Given the description of an element on the screen output the (x, y) to click on. 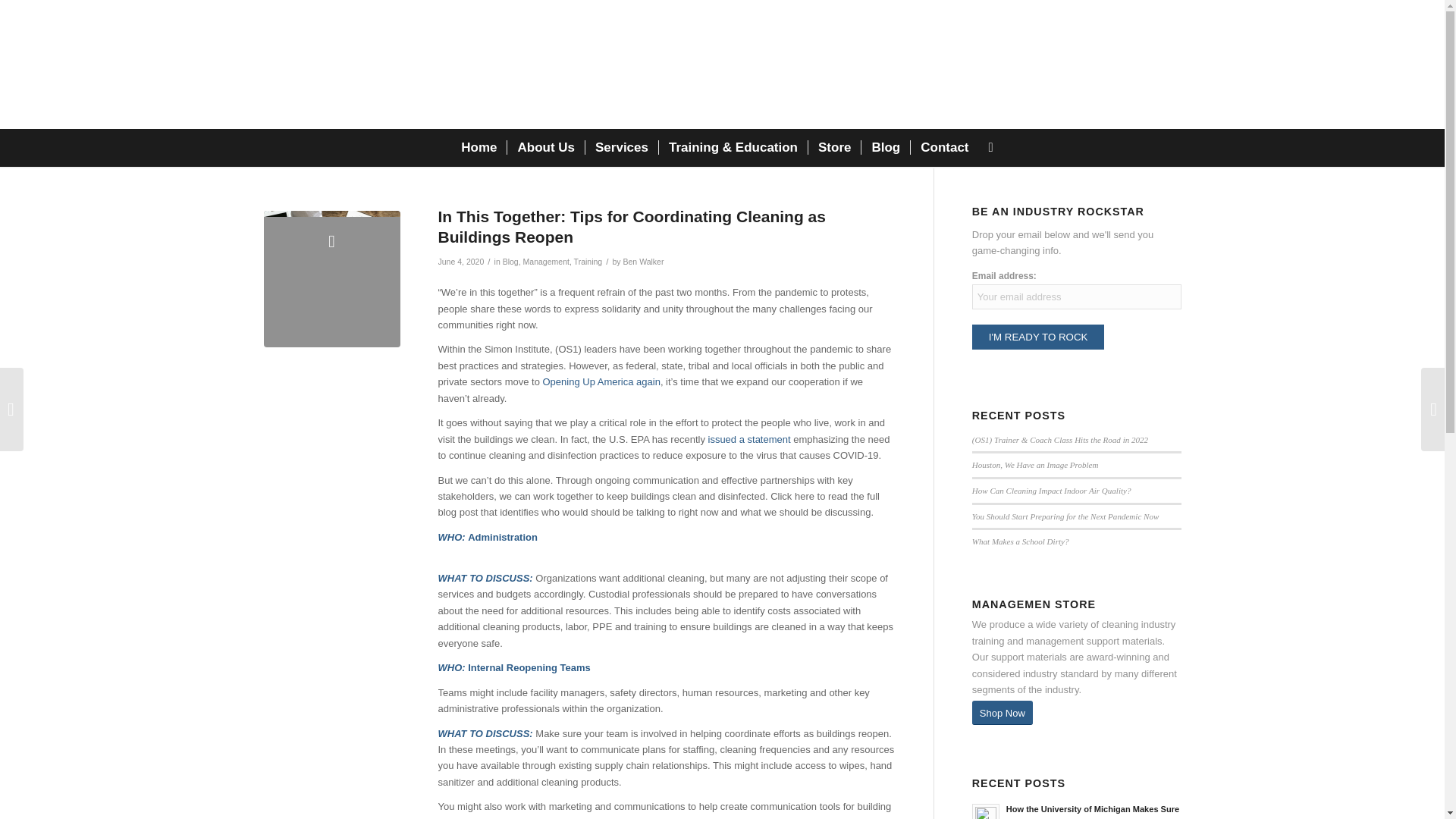
I'M READY TO ROCK (1038, 336)
Ben Walker (643, 261)
Home (478, 147)
About Us (545, 147)
Blog (510, 261)
Opening Up America again (602, 381)
Training (587, 261)
Store (834, 147)
Management (545, 261)
issued a statement (750, 439)
